Given the description of an element on the screen output the (x, y) to click on. 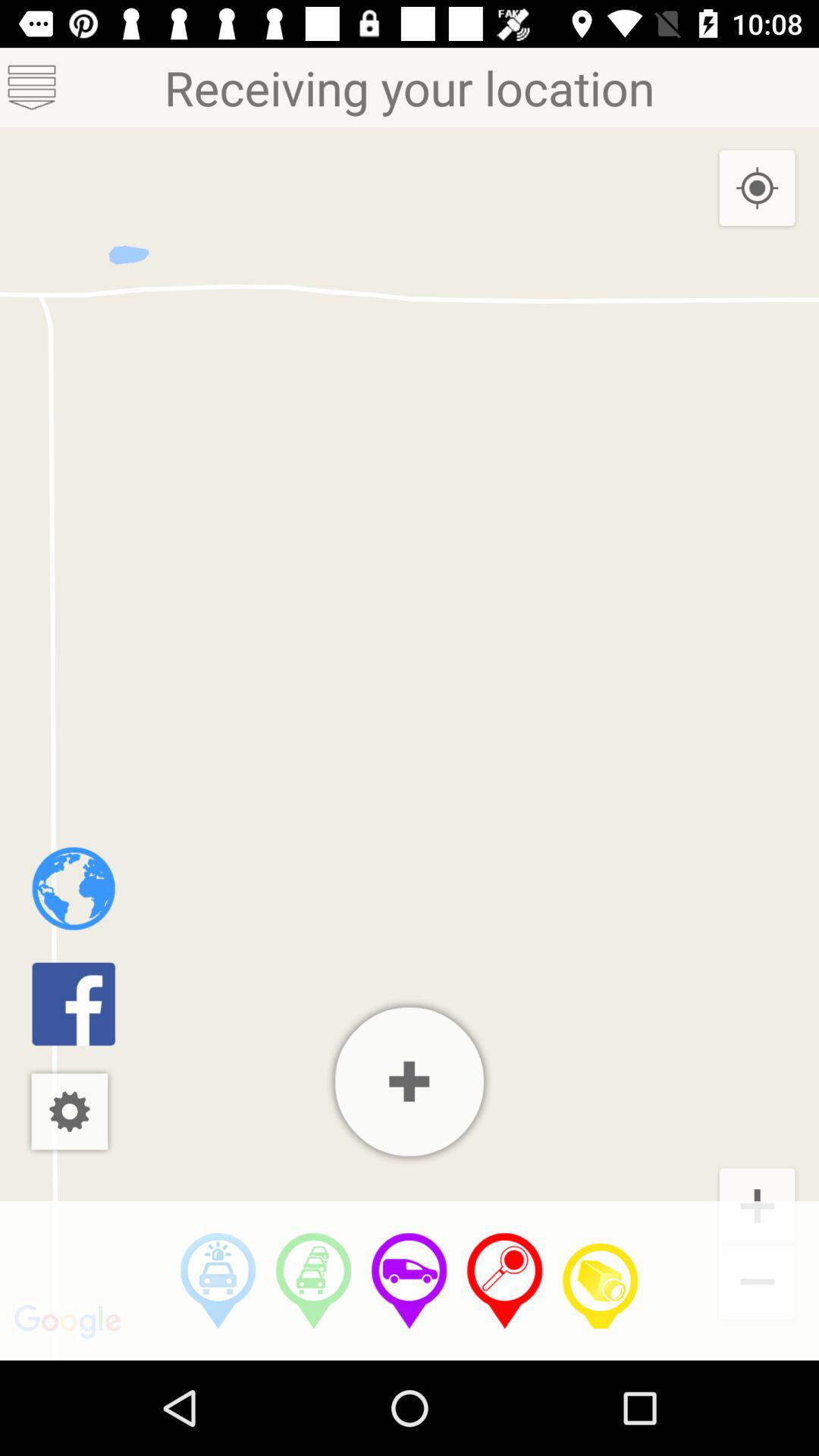
drop down menu (31, 87)
